Given the description of an element on the screen output the (x, y) to click on. 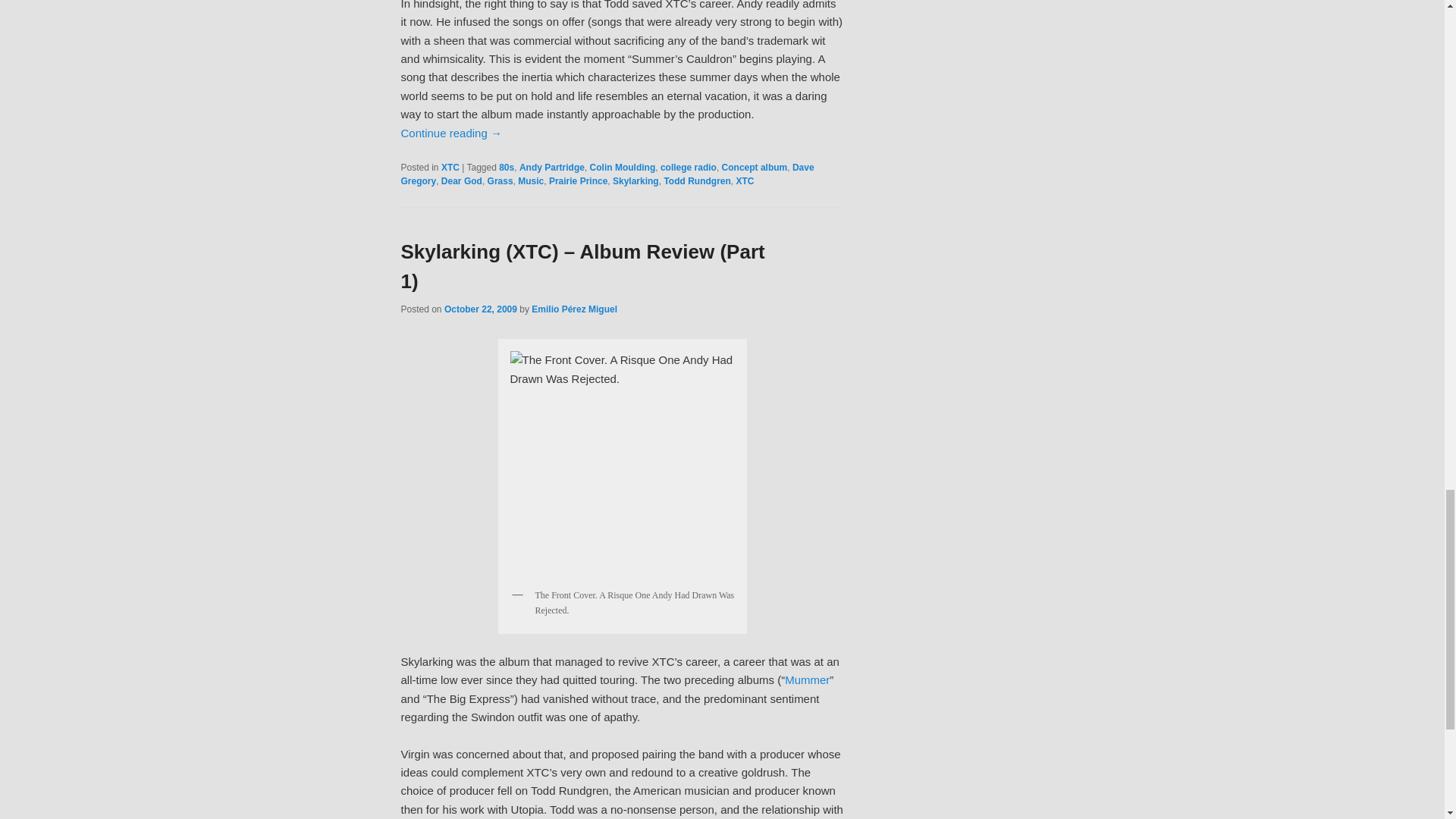
80s (506, 167)
Colin Moulding (622, 167)
Skylarking (622, 462)
Concept album (754, 167)
Dave Gregory (606, 174)
Dear God (461, 181)
Music (530, 181)
XTC (450, 167)
Grass (500, 181)
Andy Partridge (552, 167)
